Given the description of an element on the screen output the (x, y) to click on. 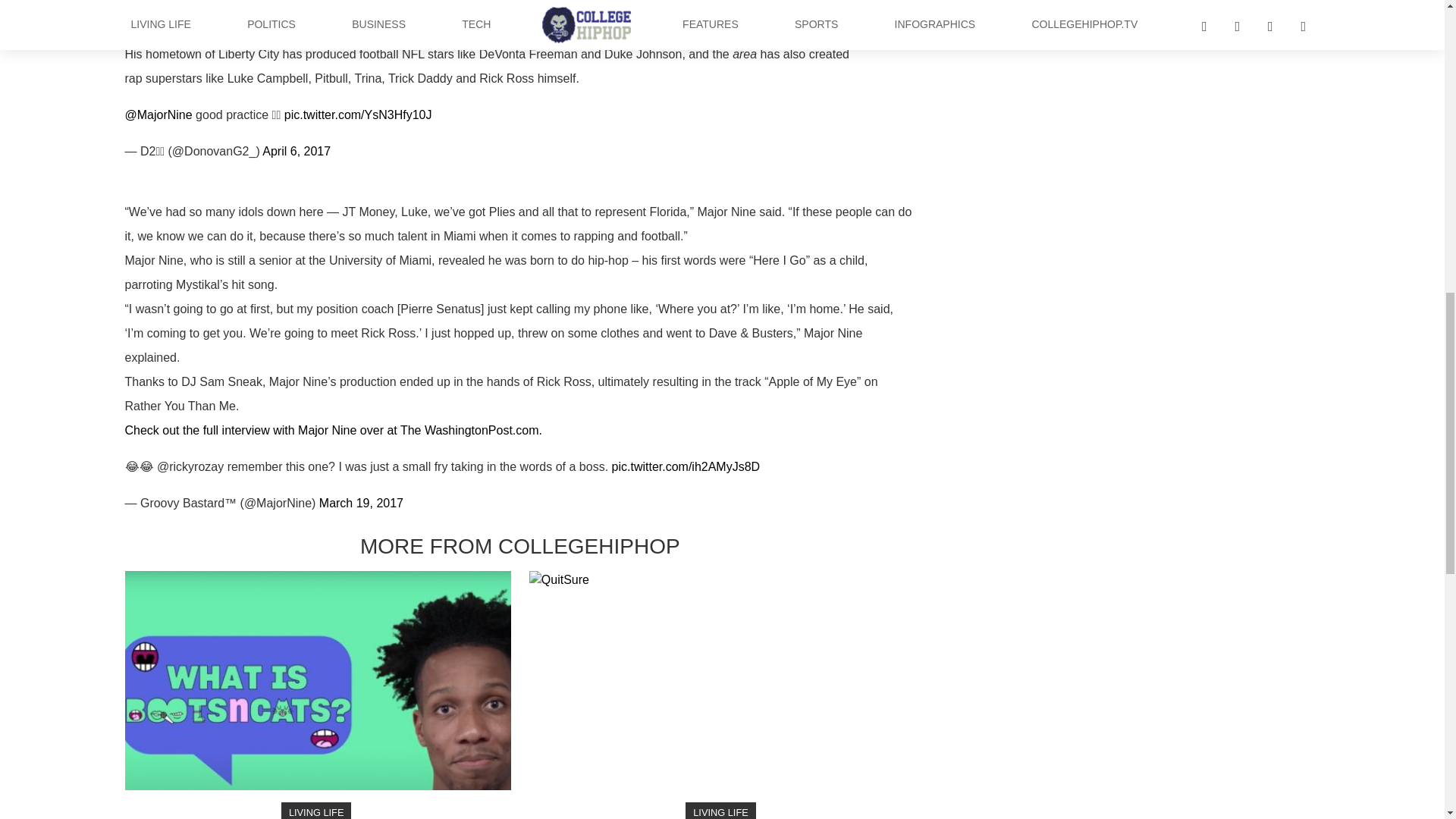
March 19, 2017 (360, 502)
April 6, 2017 (296, 151)
